Given the description of an element on the screen output the (x, y) to click on. 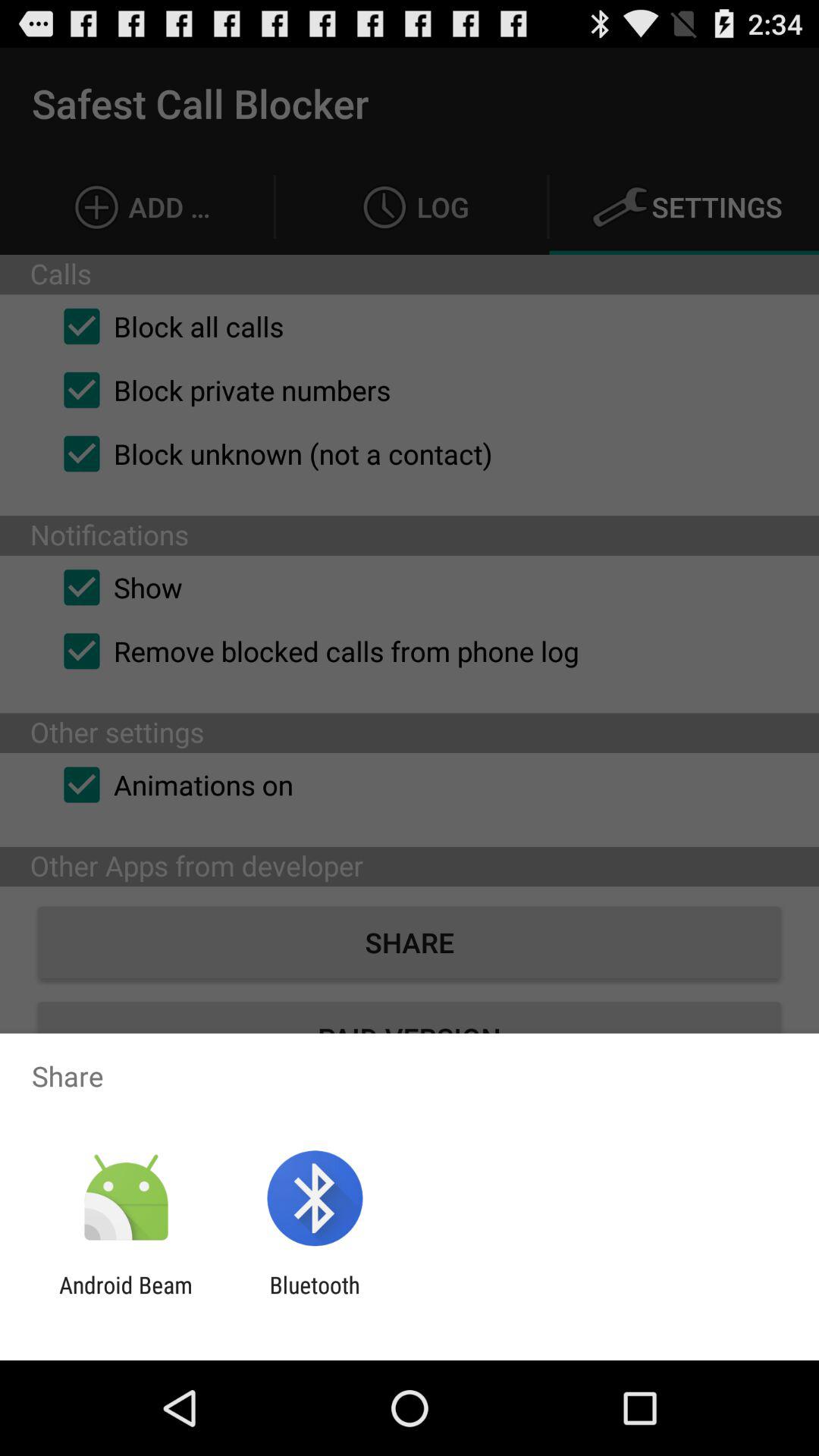
swipe until bluetooth (314, 1298)
